Given the description of an element on the screen output the (x, y) to click on. 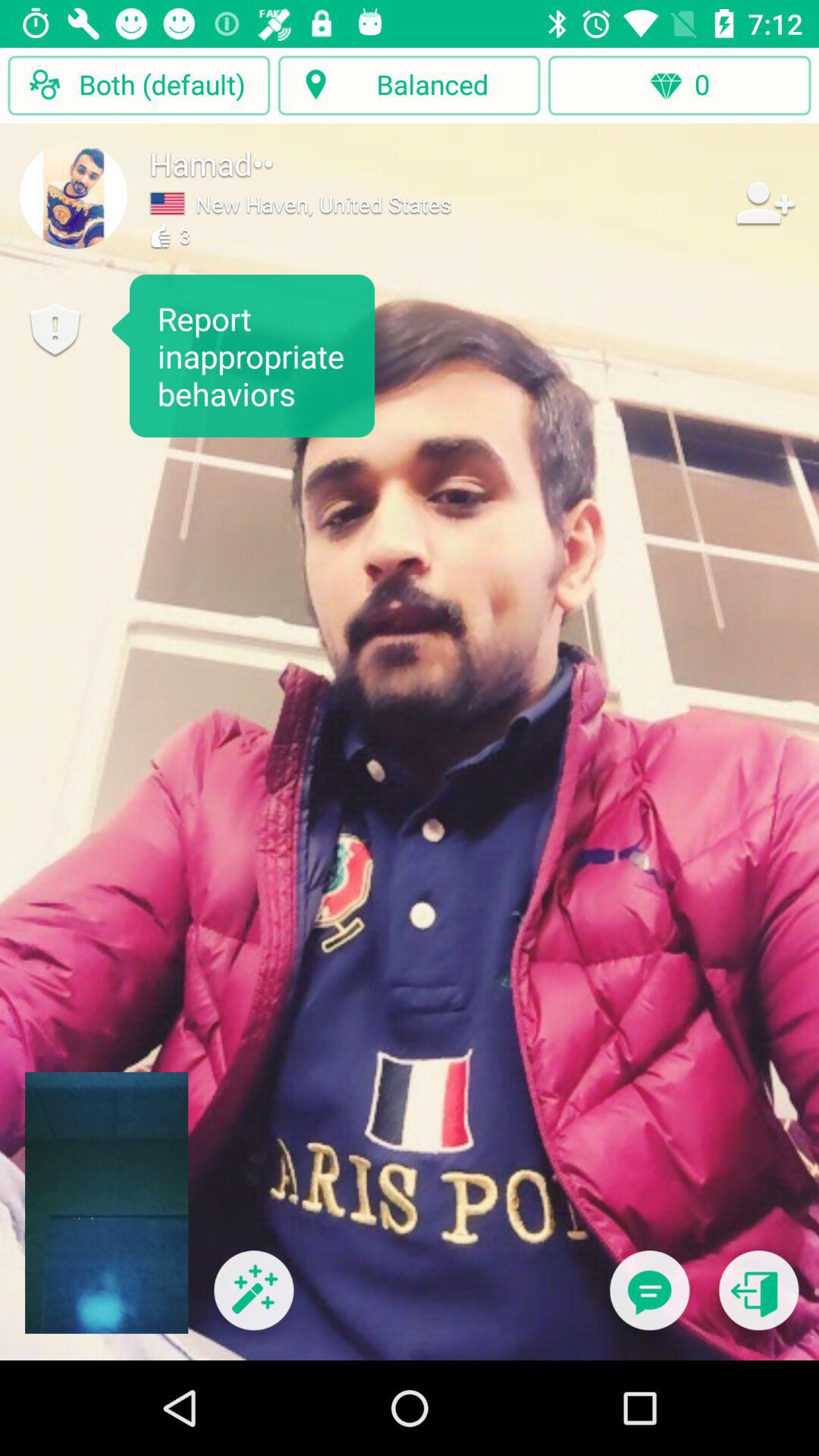
add the contact (763, 202)
